Given the description of an element on the screen output the (x, y) to click on. 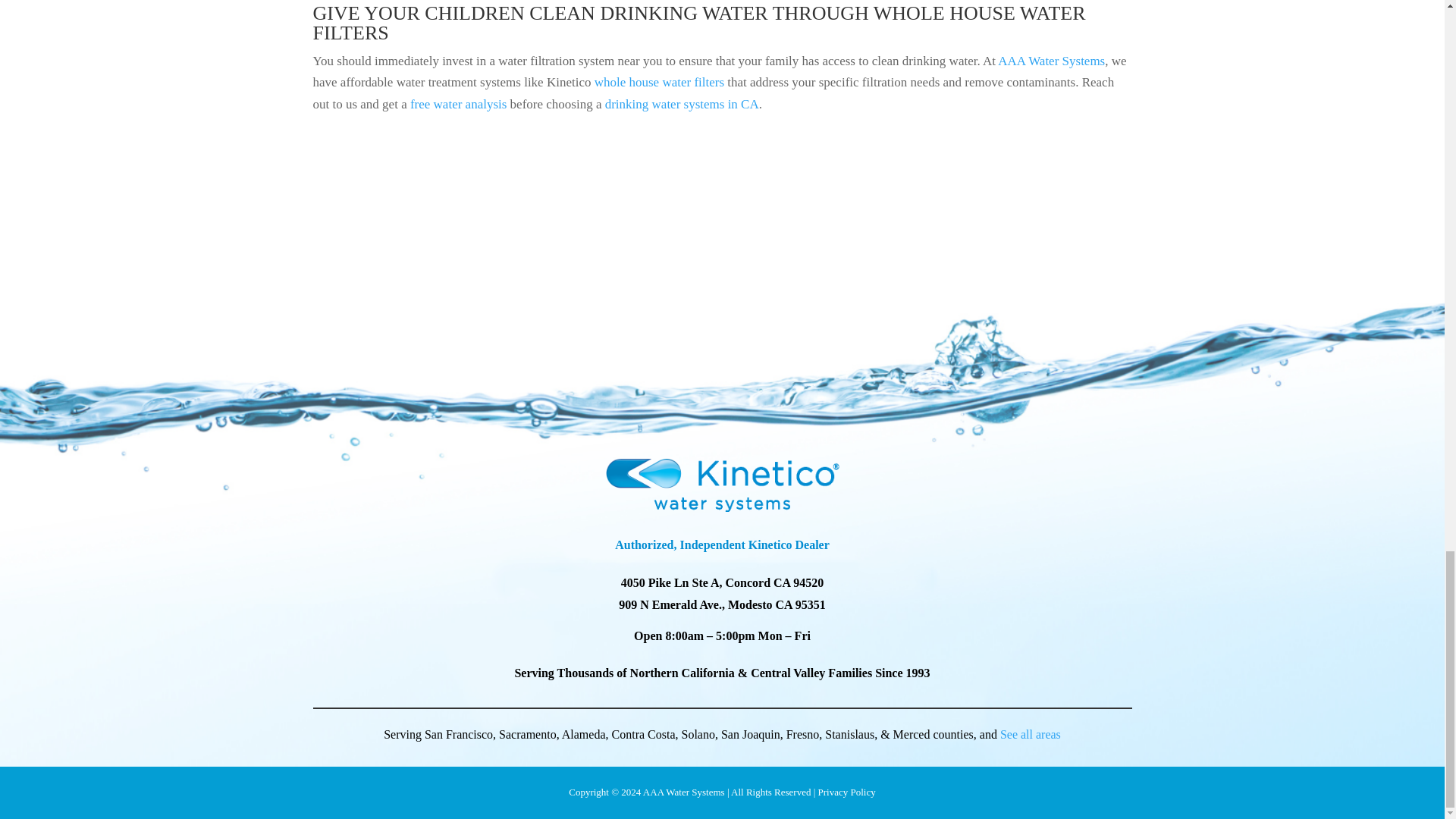
aaa-kinetico-water-systems-logo (721, 484)
